Given the description of an element on the screen output the (x, y) to click on. 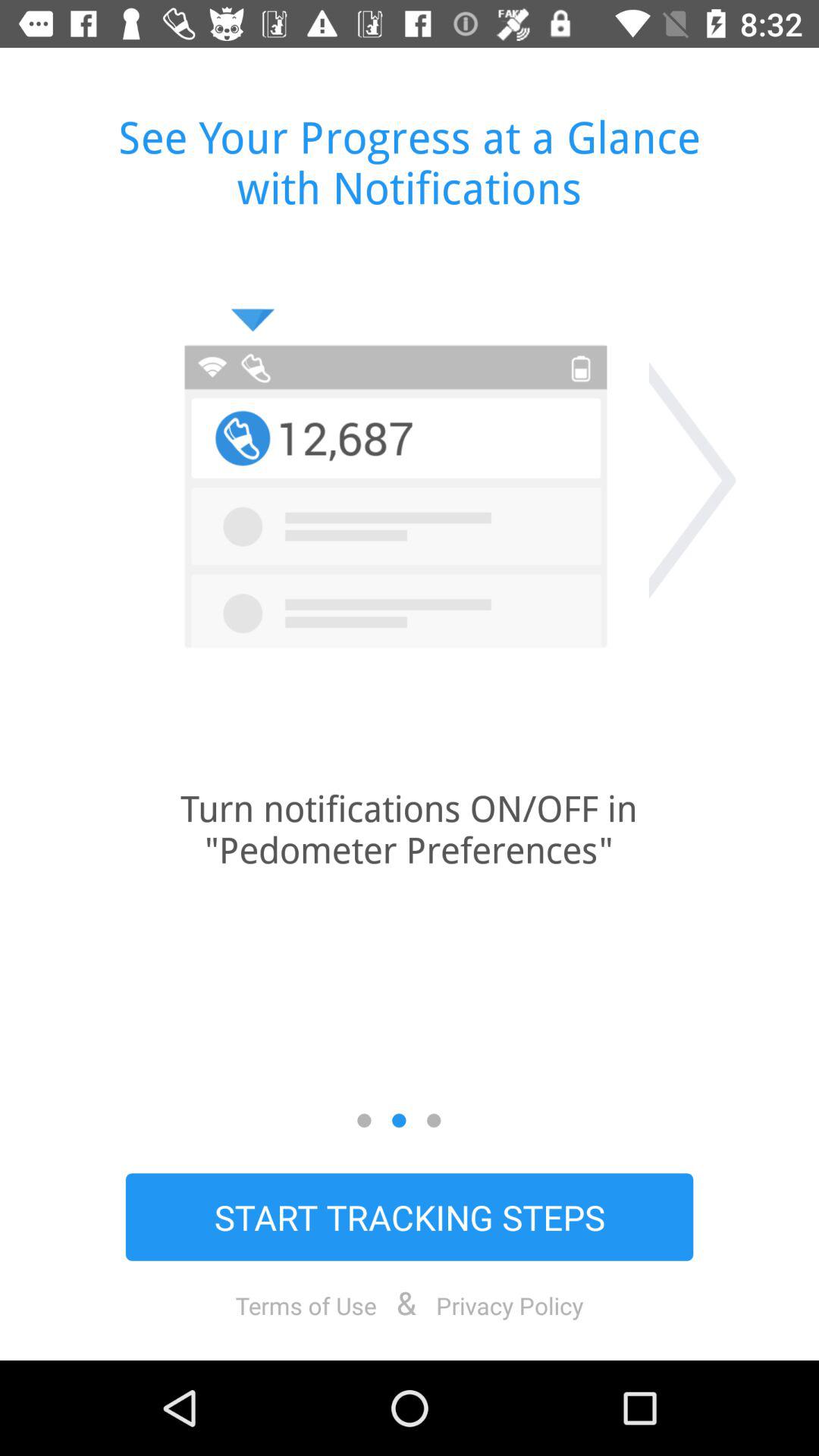
choose icon below start tracking steps (509, 1305)
